Given the description of an element on the screen output the (x, y) to click on. 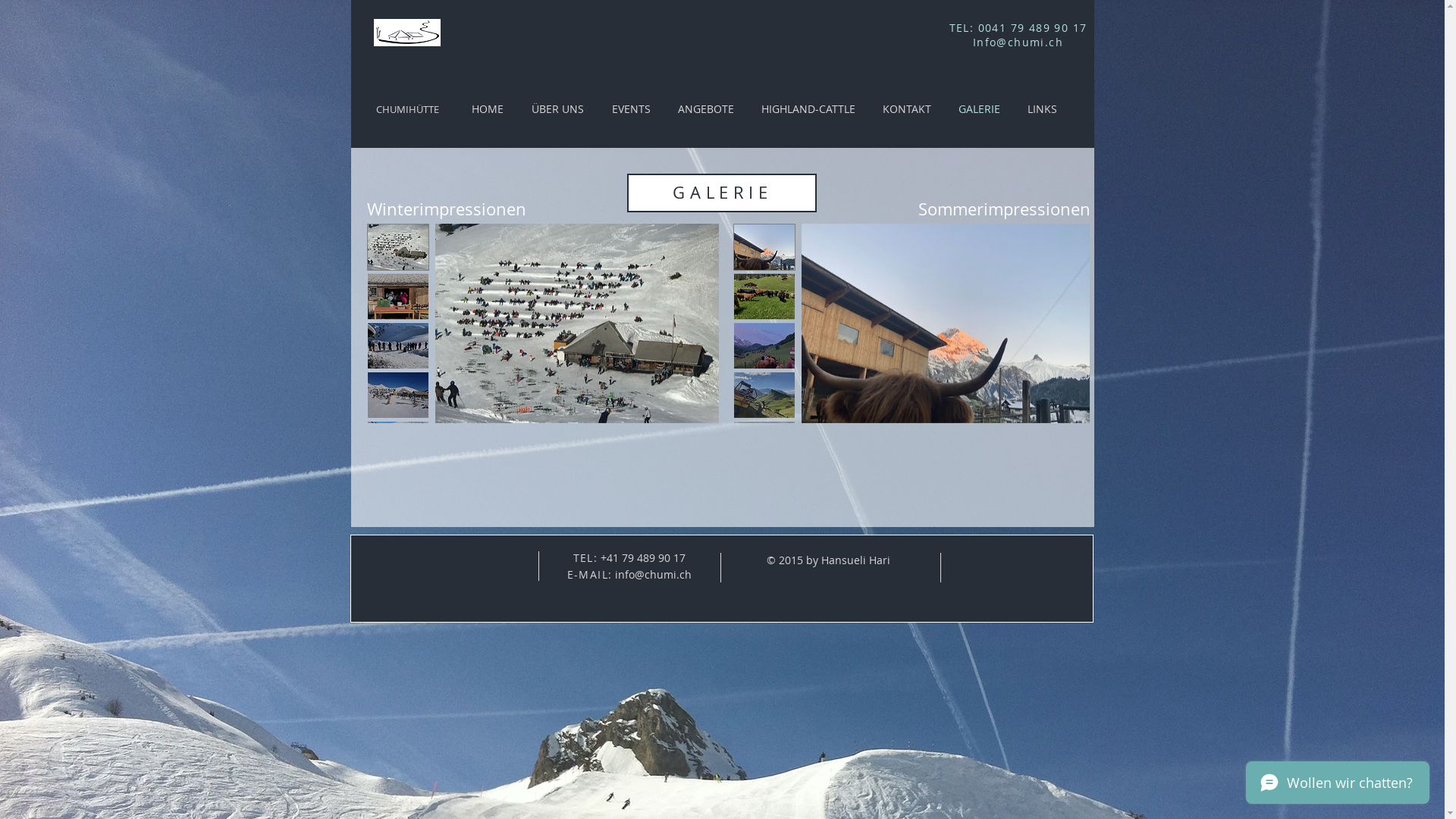
LINKS Element type: text (1041, 109)
Info@chumi.ch Element type: text (1017, 41)
info@chumi.ch Element type: text (653, 574)
EVENTS Element type: text (630, 109)
HOME Element type: text (487, 109)
KONTAKT Element type: text (906, 109)
HIGHLAND-CATTLE Element type: text (808, 109)
GALERIE Element type: text (978, 109)
ANGEBOTE Element type: text (705, 109)
